Given the description of an element on the screen output the (x, y) to click on. 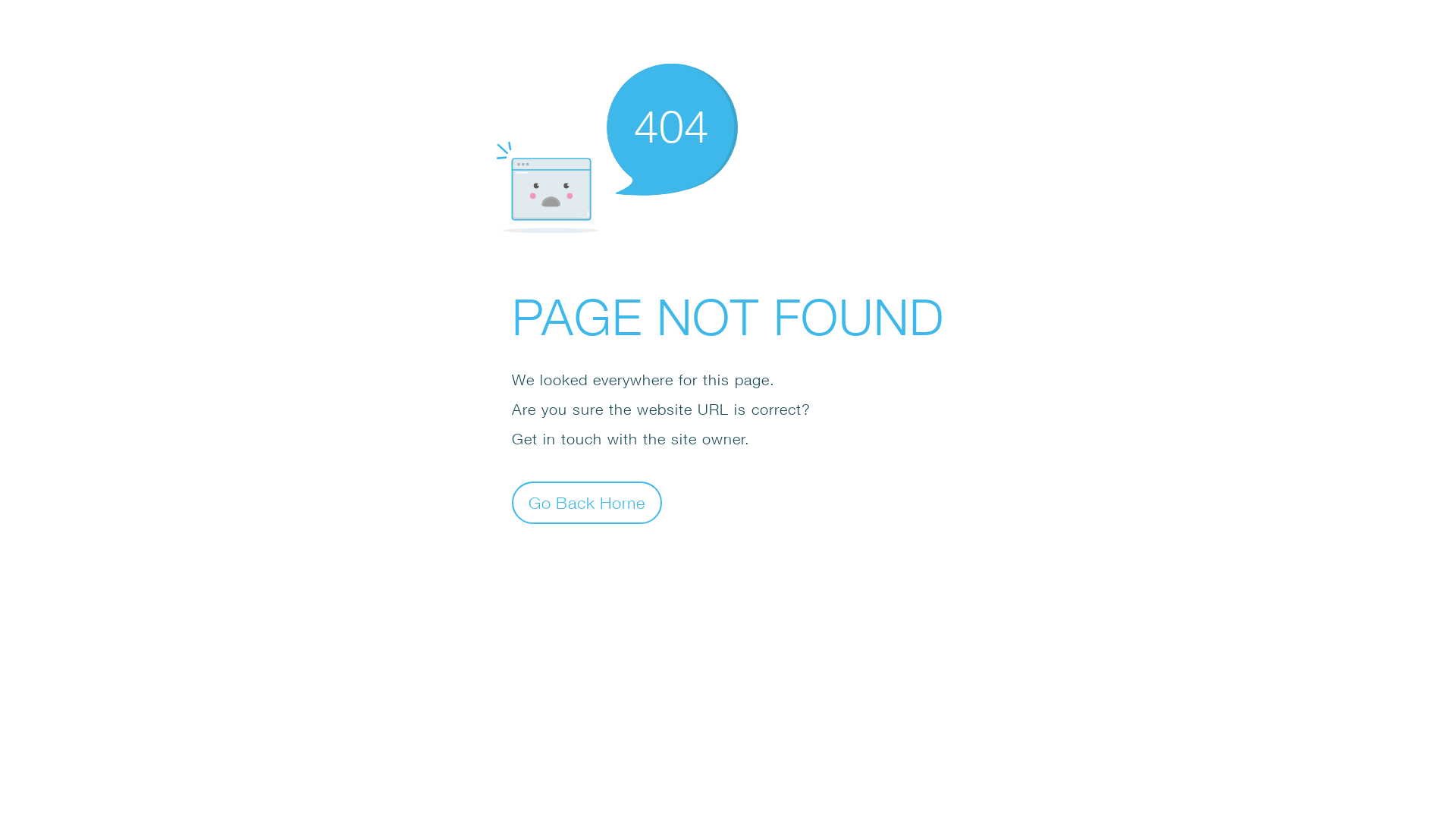
Go Back Home Element type: text (586, 502)
